Given the description of an element on the screen output the (x, y) to click on. 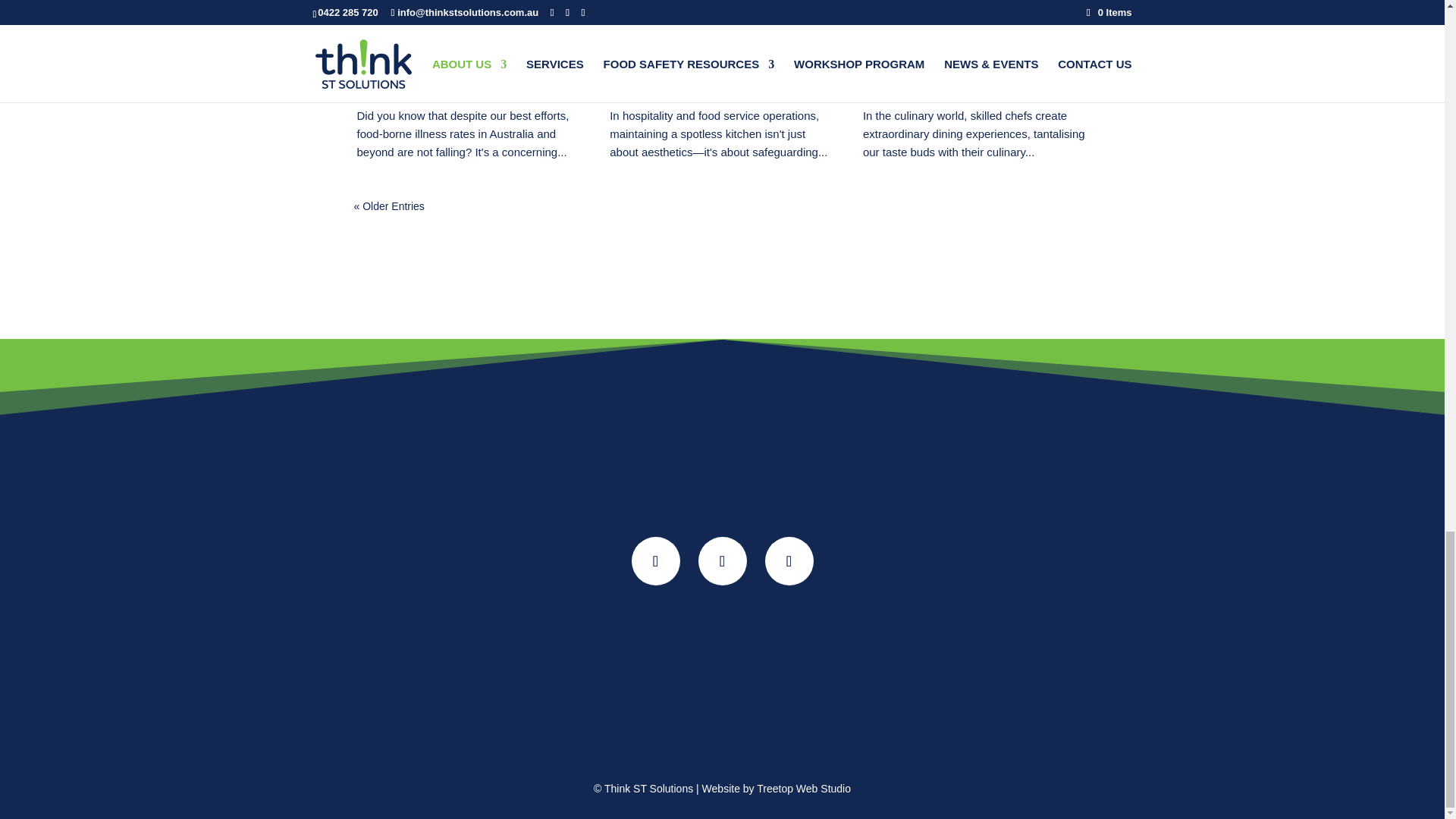
Follow on Youtube (721, 561)
Follow on Facebook (654, 561)
Follow on LinkedIn (788, 561)
